Given the description of an element on the screen output the (x, y) to click on. 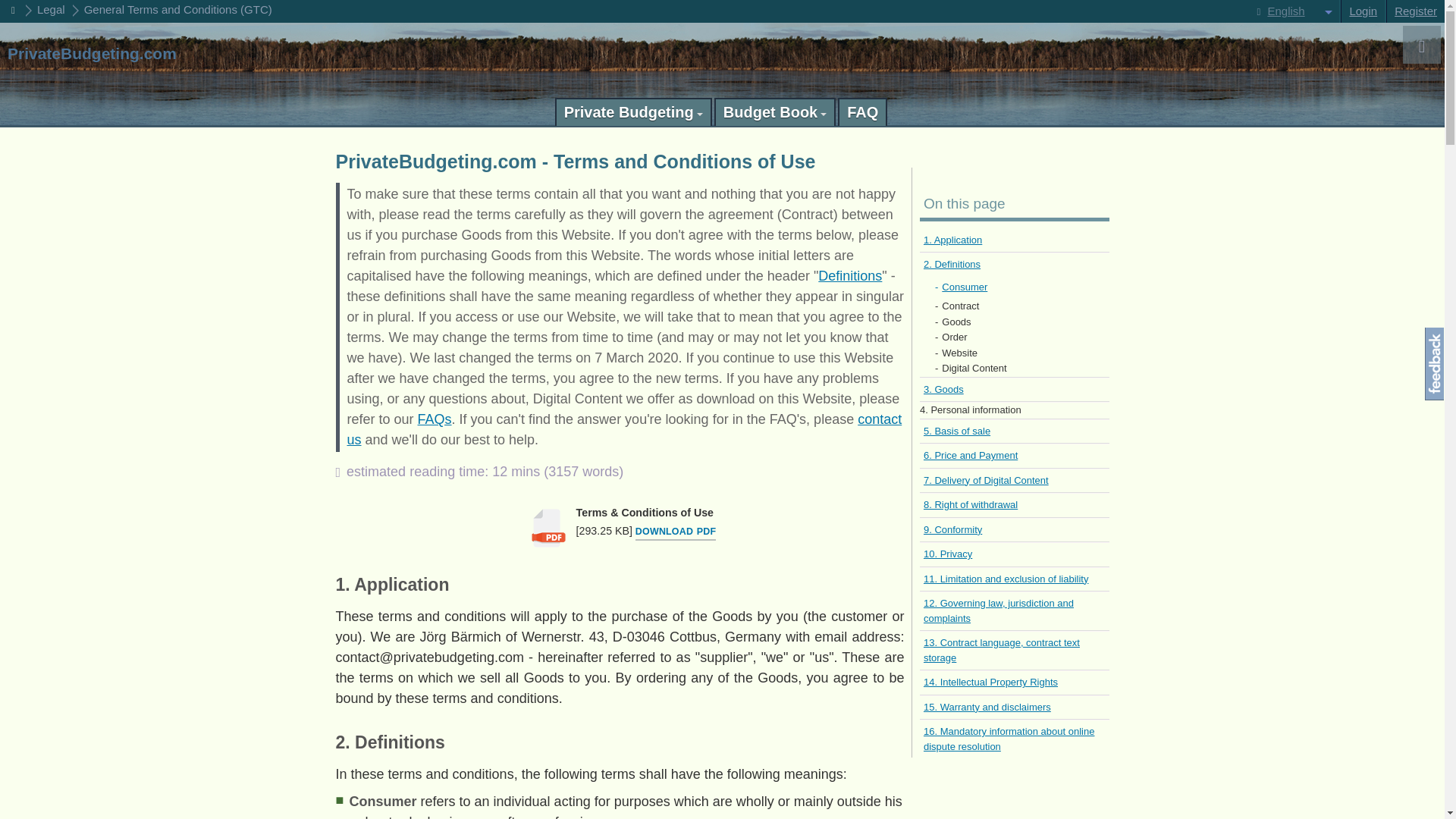
PrivateBudgeting.com (91, 53)
FAQs (434, 418)
Definitions (850, 275)
FAQ (862, 111)
Log in (1362, 11)
Login (1362, 11)
Budget Book (774, 111)
DOWNLOAD PDF (675, 531)
Private Budgeting (632, 111)
contact us (624, 429)
